Given the description of an element on the screen output the (x, y) to click on. 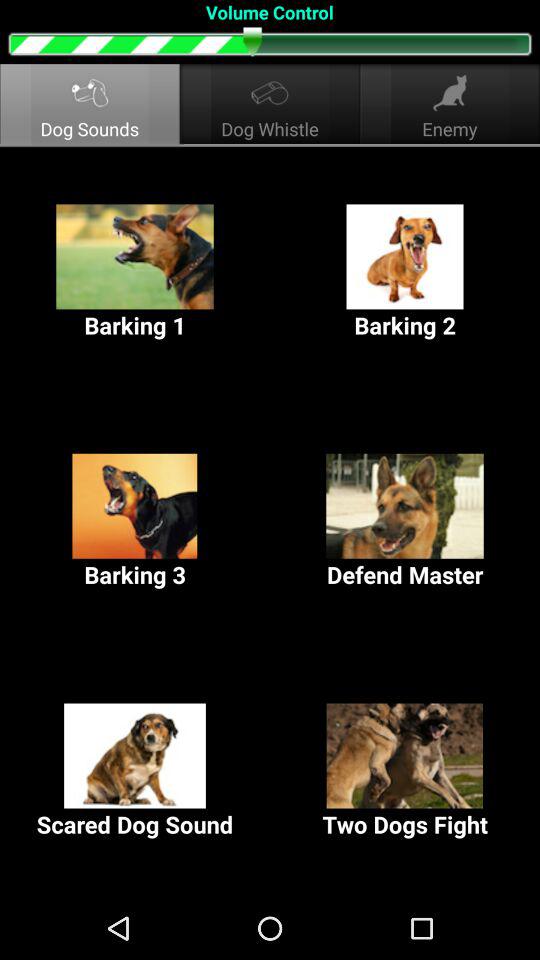
press barking 3 (135, 521)
